Given the description of an element on the screen output the (x, y) to click on. 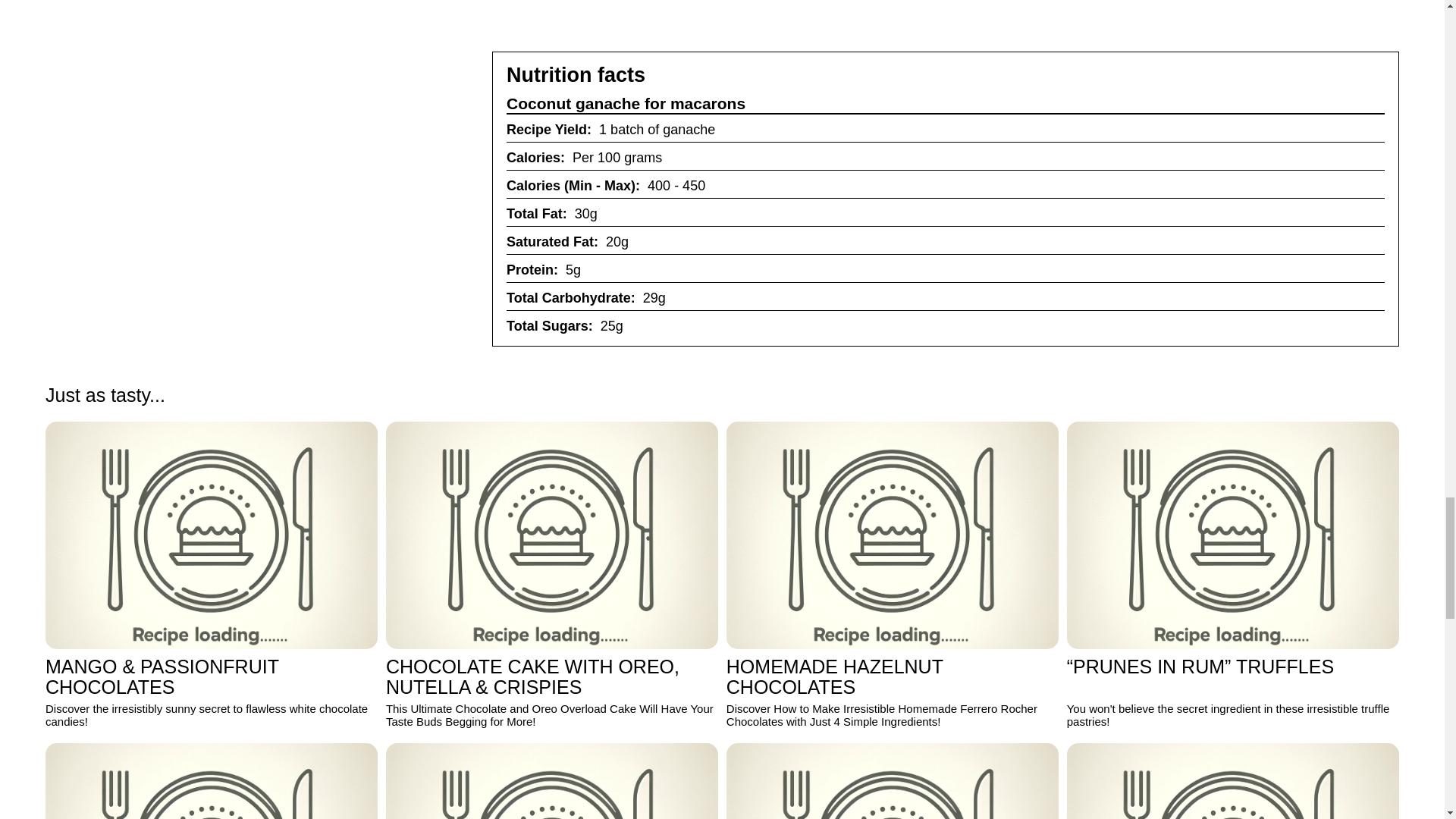
CHOCOLATE COOKIES WITH CARAMEL (211, 780)
MOJITO MACARONS FILLING (1233, 780)
HOMEMADE HAZELNUT CHOCOLATES (892, 535)
